Given the description of an element on the screen output the (x, y) to click on. 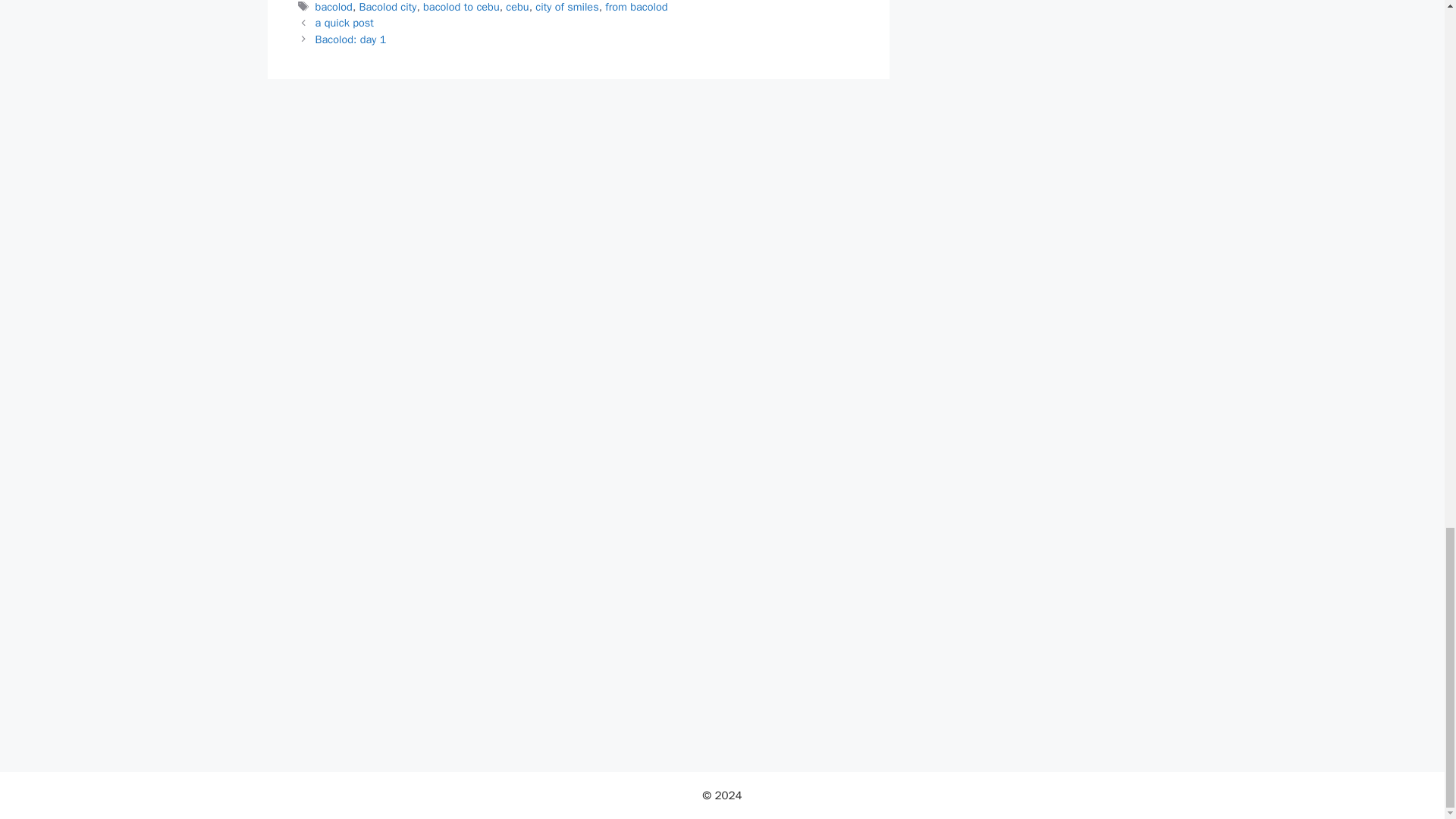
city of smiles (566, 6)
a quick post (344, 22)
bacolod (333, 6)
bacolod to cebu (461, 6)
Bacolod: day 1 (351, 38)
from bacolod (635, 6)
Bacolod city (387, 6)
cebu (516, 6)
